Given the description of an element on the screen output the (x, y) to click on. 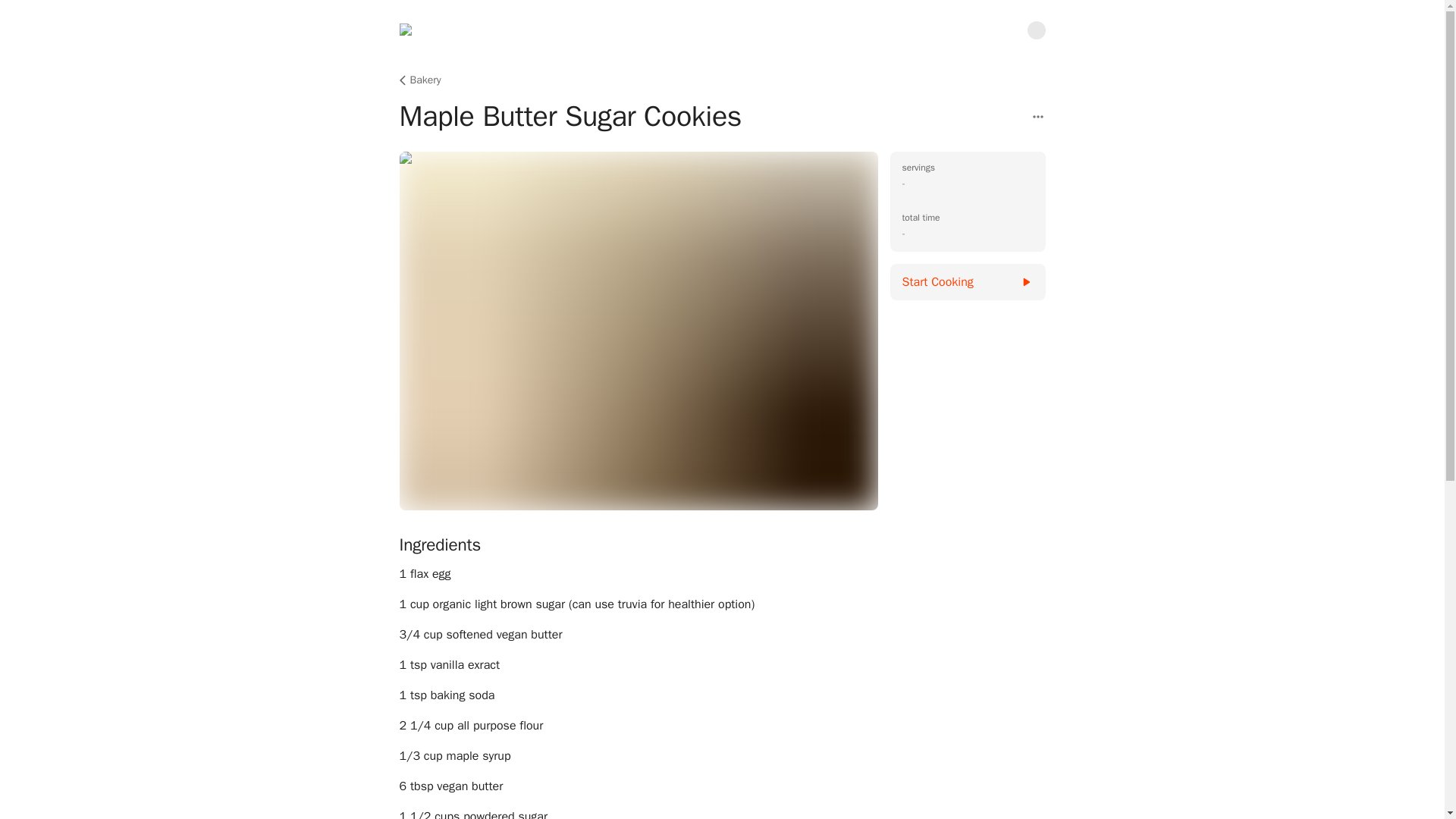
Start Cooking (967, 281)
Recipe Menu (1037, 116)
Bakery (419, 79)
